Given the description of an element on the screen output the (x, y) to click on. 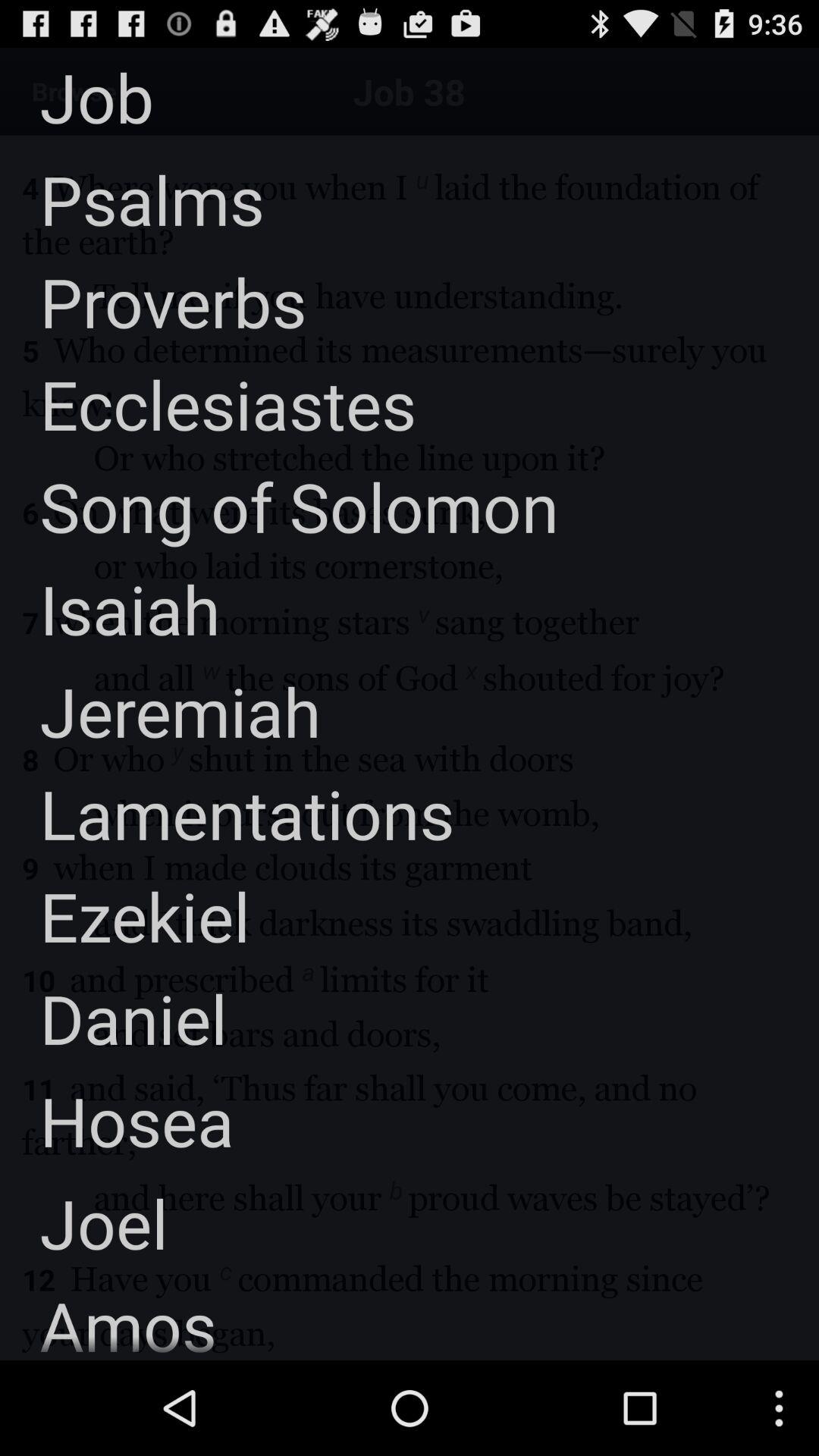
launch jeremiah item (160, 711)
